Given the description of an element on the screen output the (x, y) to click on. 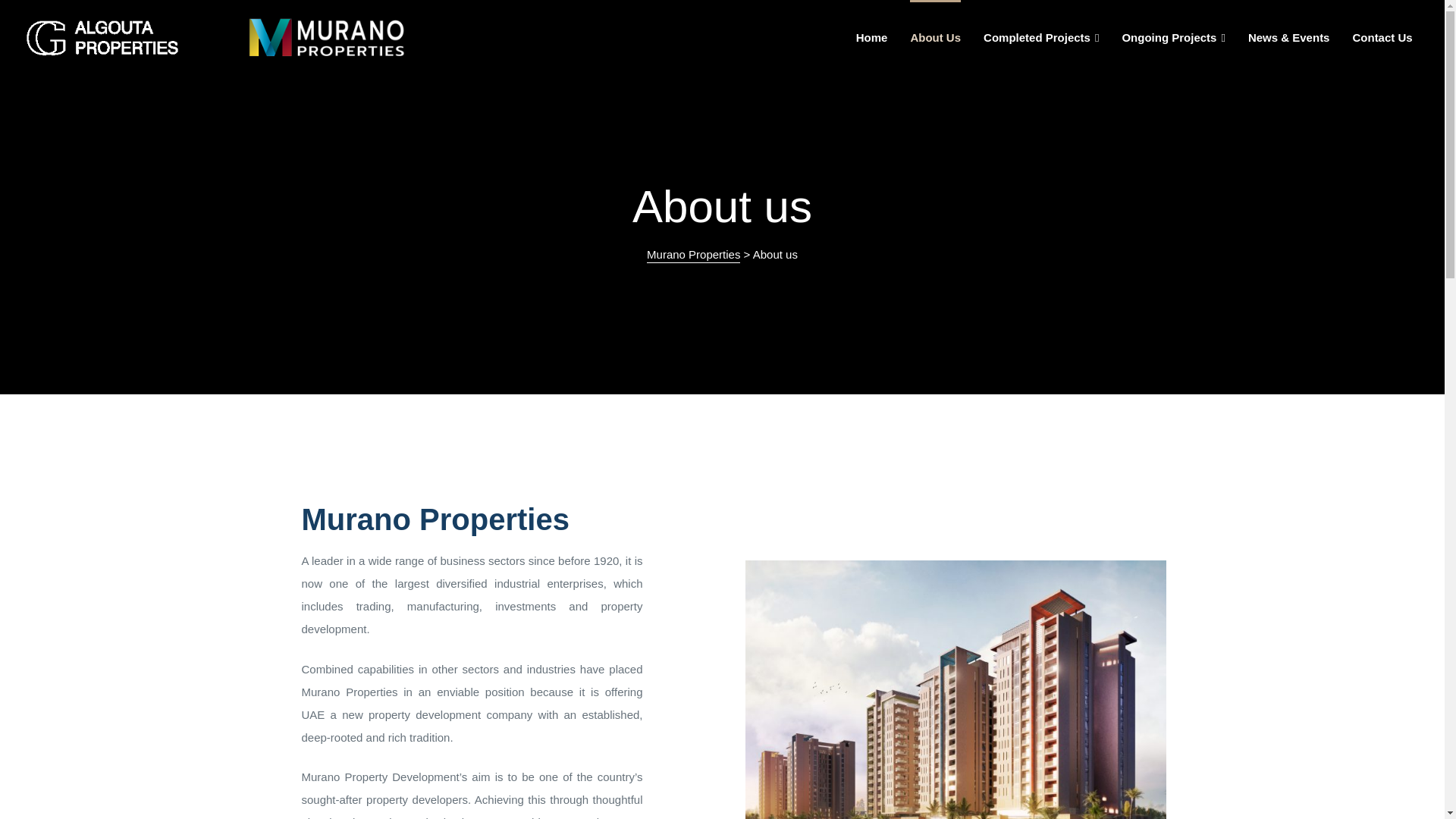
Go to Murano Properties. (692, 254)
Completed Projects (1041, 38)
Ongoing Projects (1173, 38)
Murano Properties (692, 254)
